Given the description of an element on the screen output the (x, y) to click on. 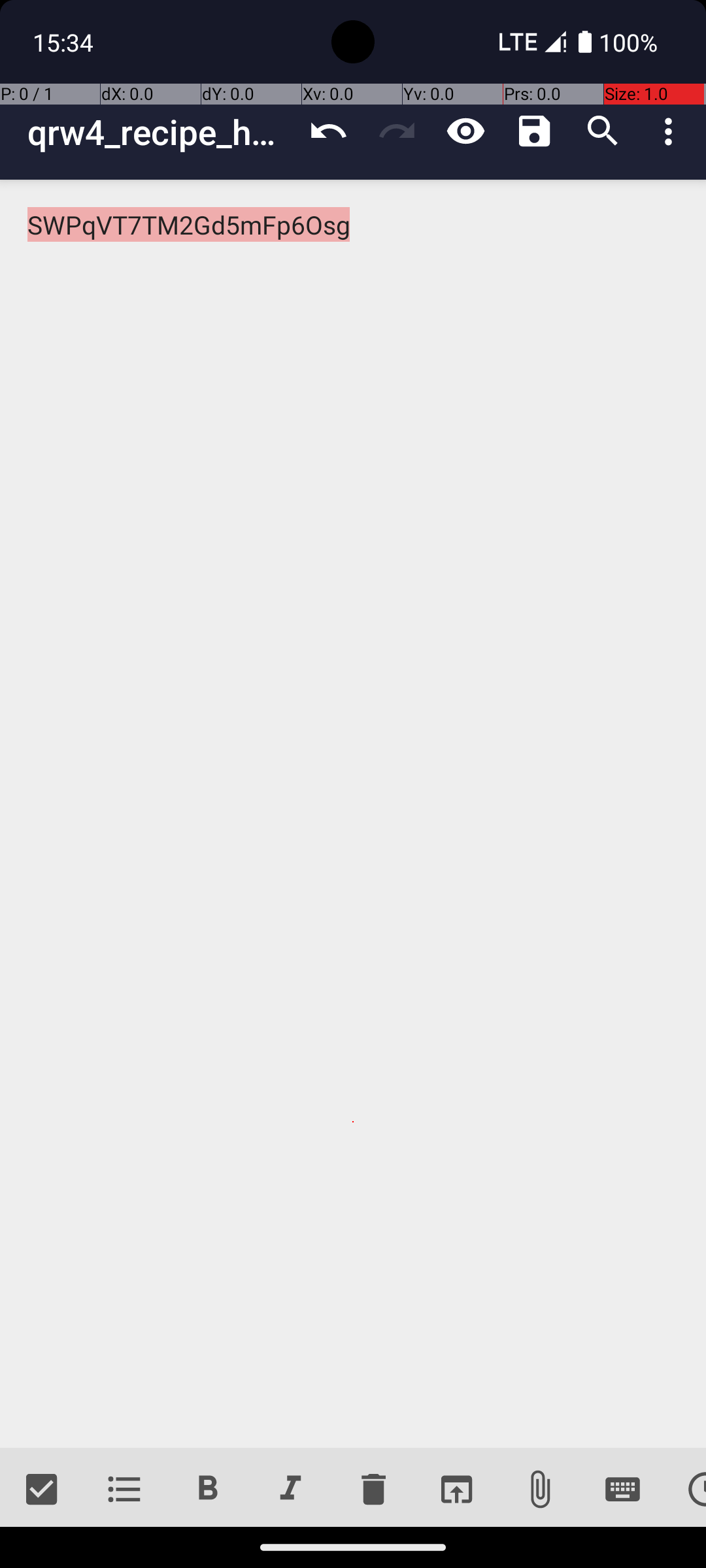
qrw4_recipe_homemade_pizza Element type: android.widget.TextView (160, 131)
SWPqVT7TM2Gd5mFp6Osg Element type: android.widget.EditText (353, 813)
